Given the description of an element on the screen output the (x, y) to click on. 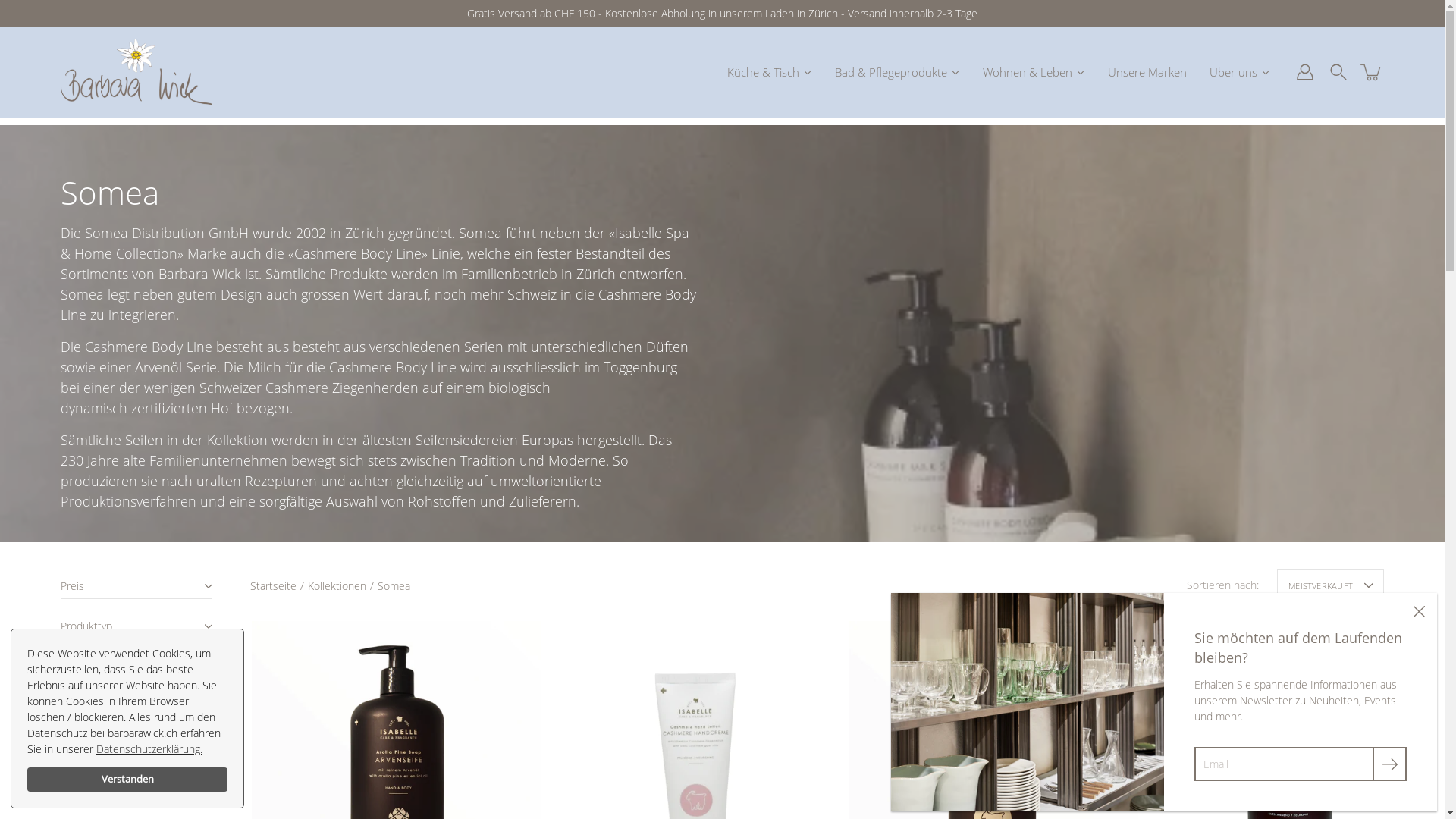
Produkttyp Element type: text (136, 628)
Marke Element type: text (136, 668)
Wohnen & Leben Element type: text (1033, 71)
MEISTVERKAUFT Element type: text (1330, 585)
Unsere Marken Element type: text (1147, 71)
Verstanden Element type: text (127, 779)
Preis Element type: text (136, 588)
Startseite Element type: text (273, 584)
Bad & Pflegeprodukte Element type: text (897, 71)
Kollektionen Element type: text (336, 584)
